Given the description of an element on the screen output the (x, y) to click on. 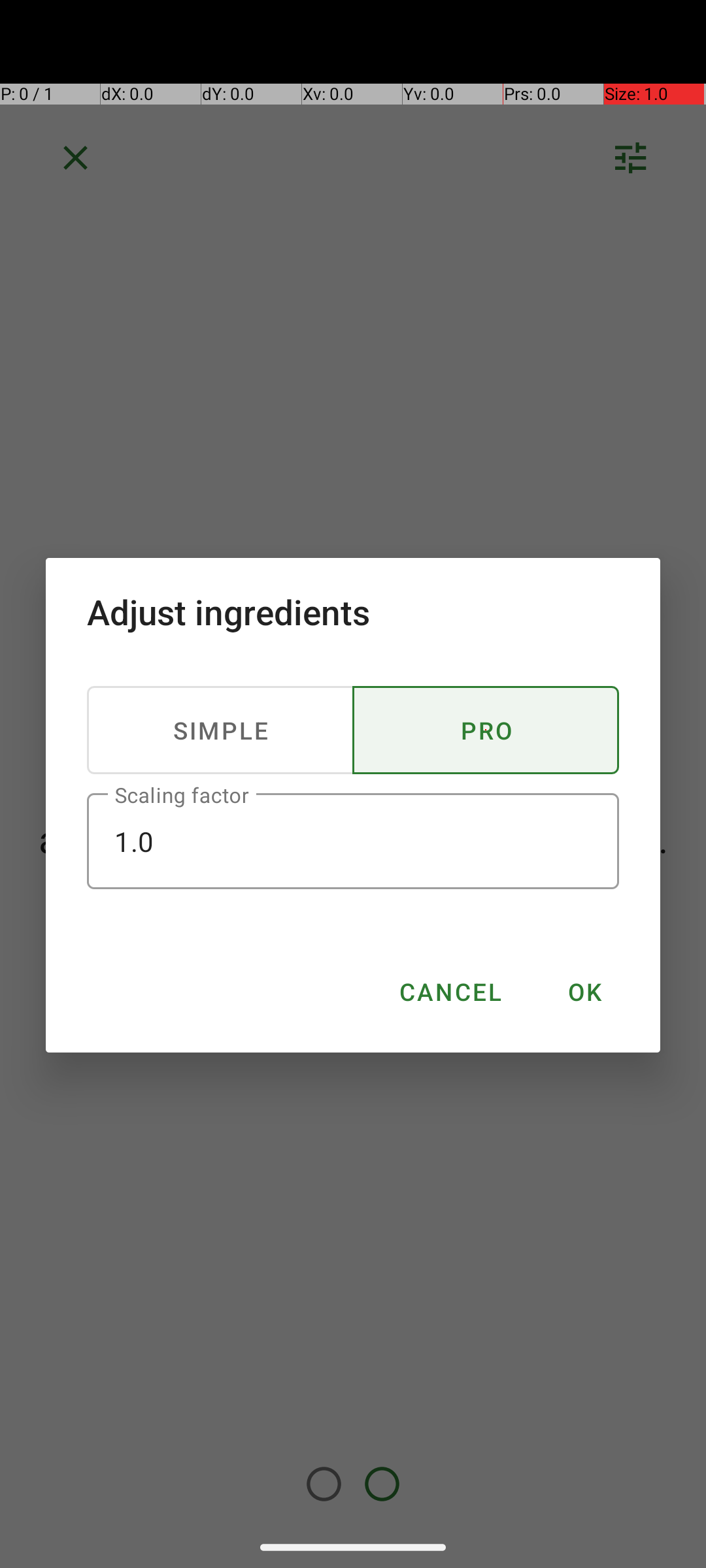
1.0 Element type: android.widget.EditText (352, 841)
